Given the description of an element on the screen output the (x, y) to click on. 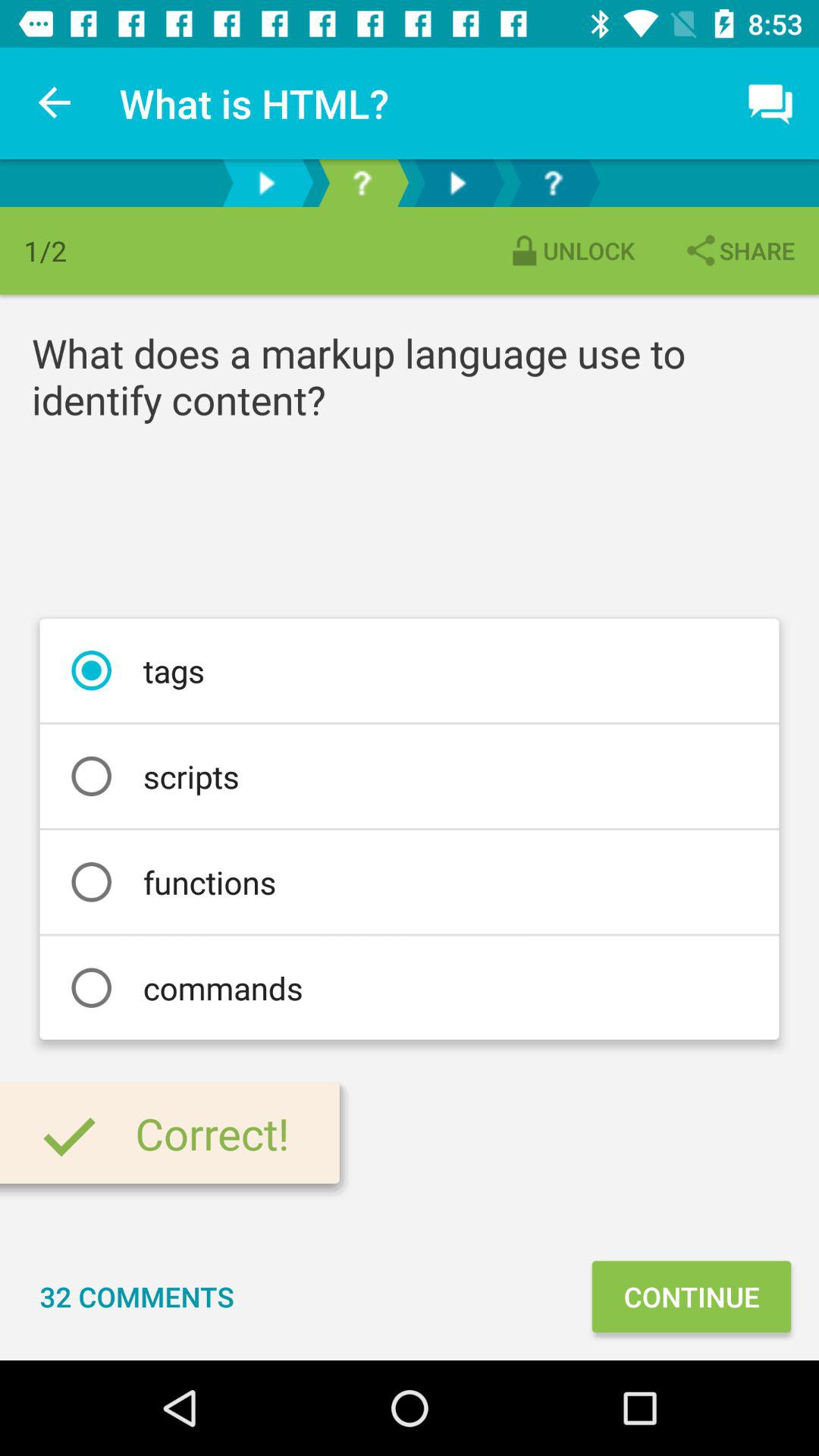
play first video (265, 183)
